Given the description of an element on the screen output the (x, y) to click on. 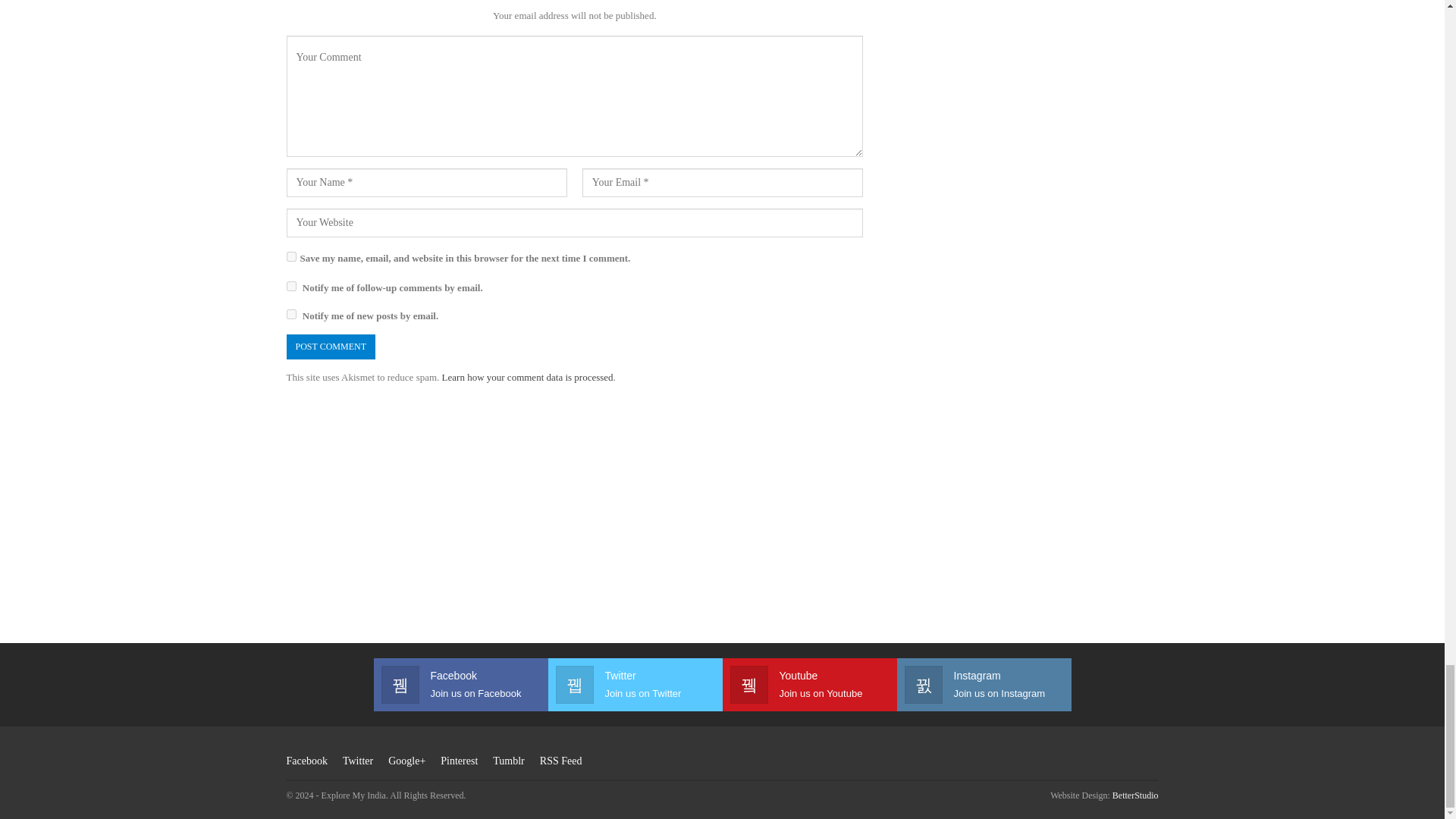
Post Comment (330, 346)
yes (291, 256)
subscribe (291, 314)
subscribe (291, 286)
